Given the description of an element on the screen output the (x, y) to click on. 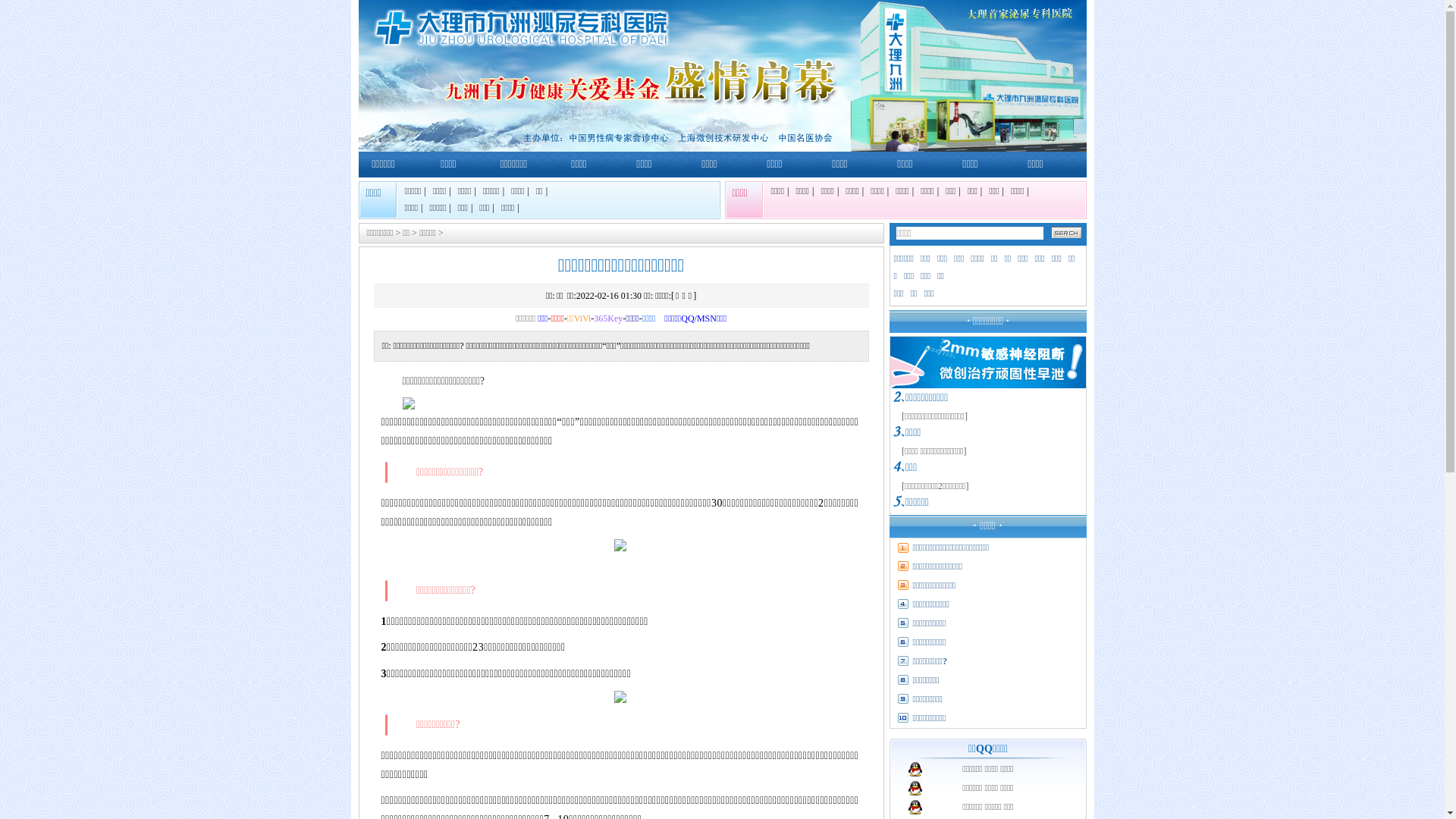
365Key Element type: text (607, 318)
